Given the description of an element on the screen output the (x, y) to click on. 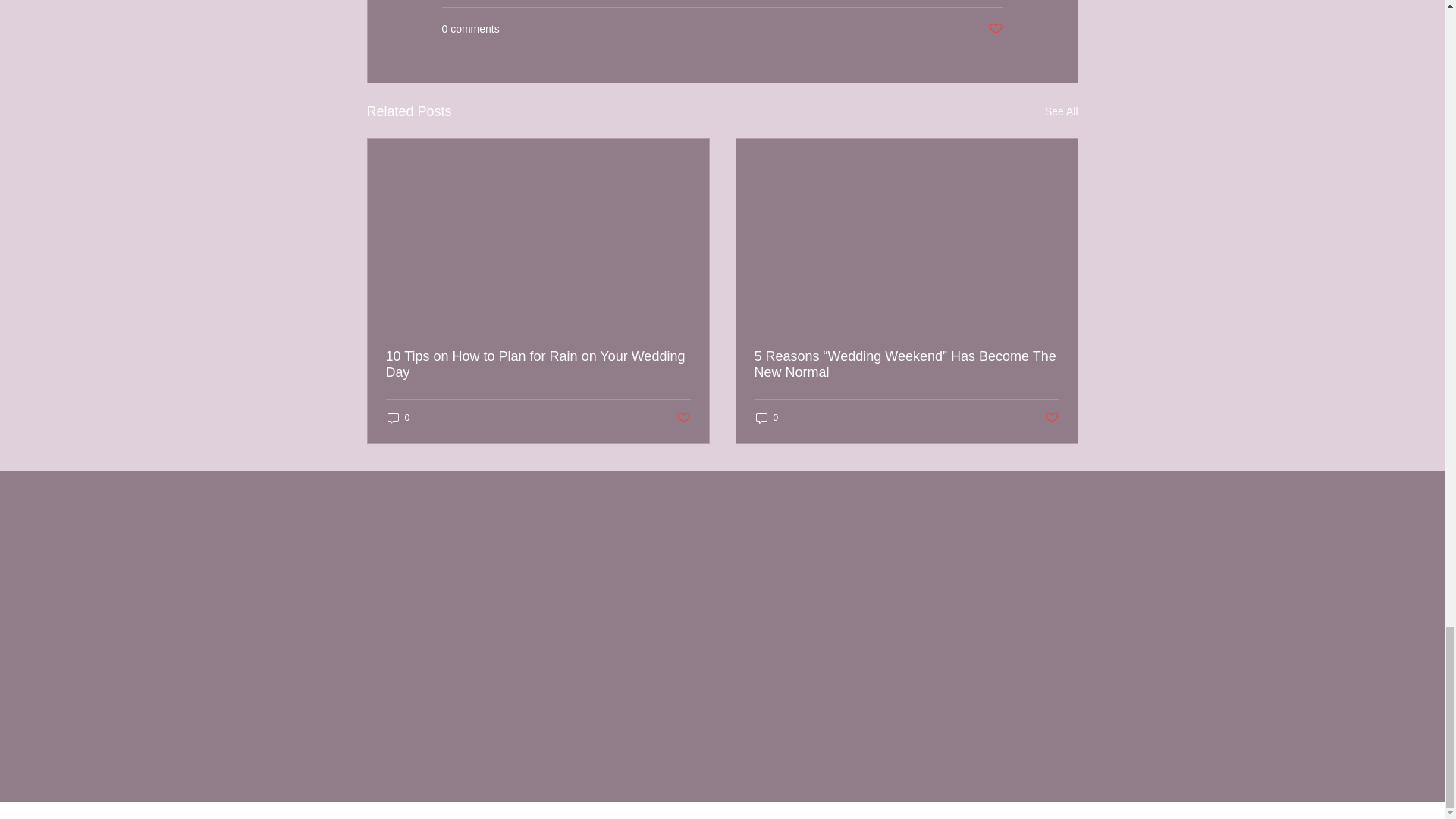
Post not marked as liked (995, 28)
Post not marked as liked (1052, 417)
10 Tips on How to Plan for Rain on Your Wedding Day (537, 364)
0 (766, 418)
See All (1061, 111)
Post not marked as liked (683, 417)
0 (397, 418)
